Given the description of an element on the screen output the (x, y) to click on. 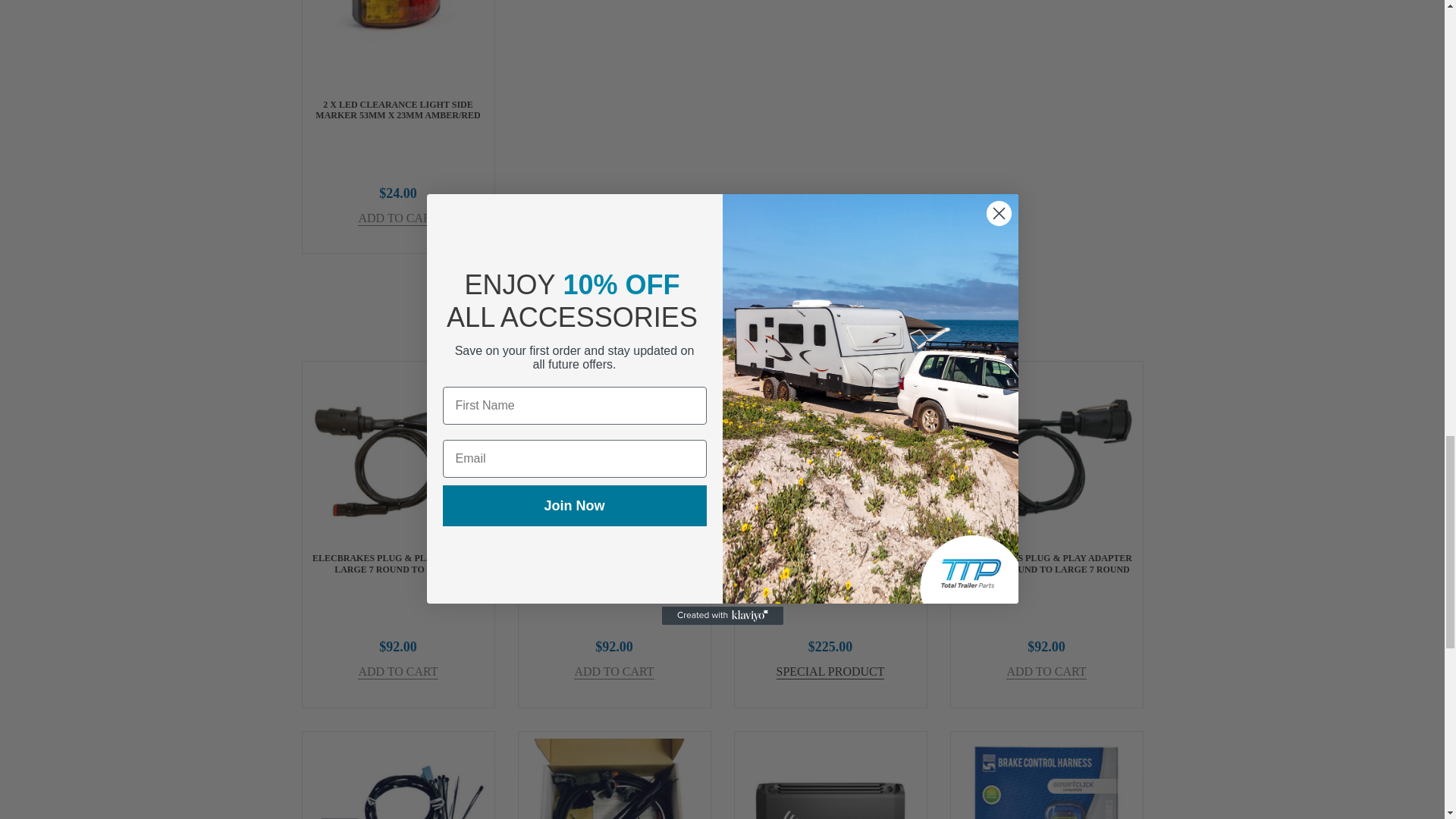
Notify for Special Product (830, 671)
